Given the description of an element on the screen output the (x, y) to click on. 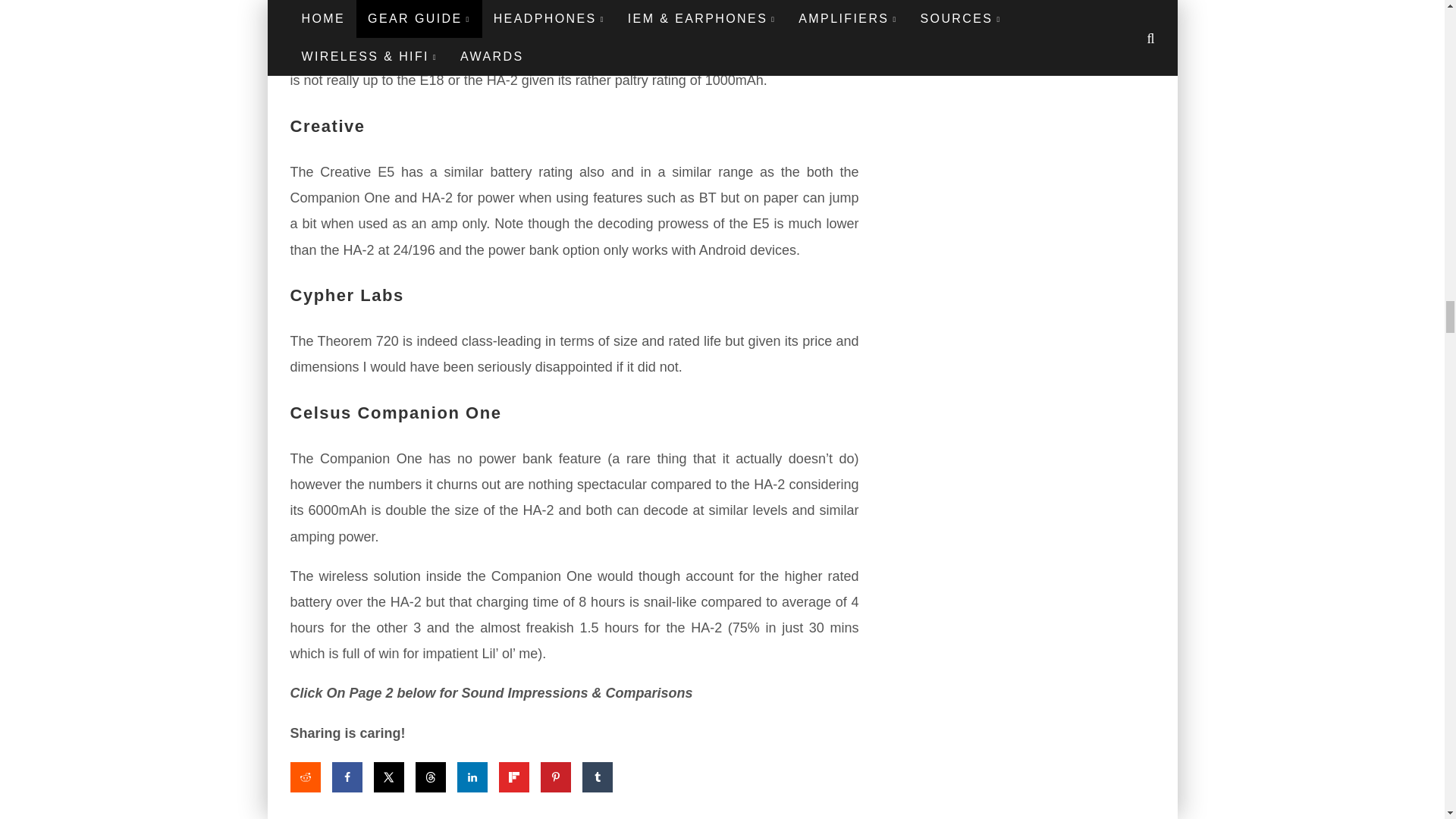
Save to Pinterest (555, 777)
Share on Flipboard (514, 777)
Share on Tumblr (597, 777)
Share on Facebook (346, 777)
Share on Reddit (304, 777)
Share on Threads (429, 777)
Share on LinkedIn (471, 777)
Share on X (387, 777)
